Given the description of an element on the screen output the (x, y) to click on. 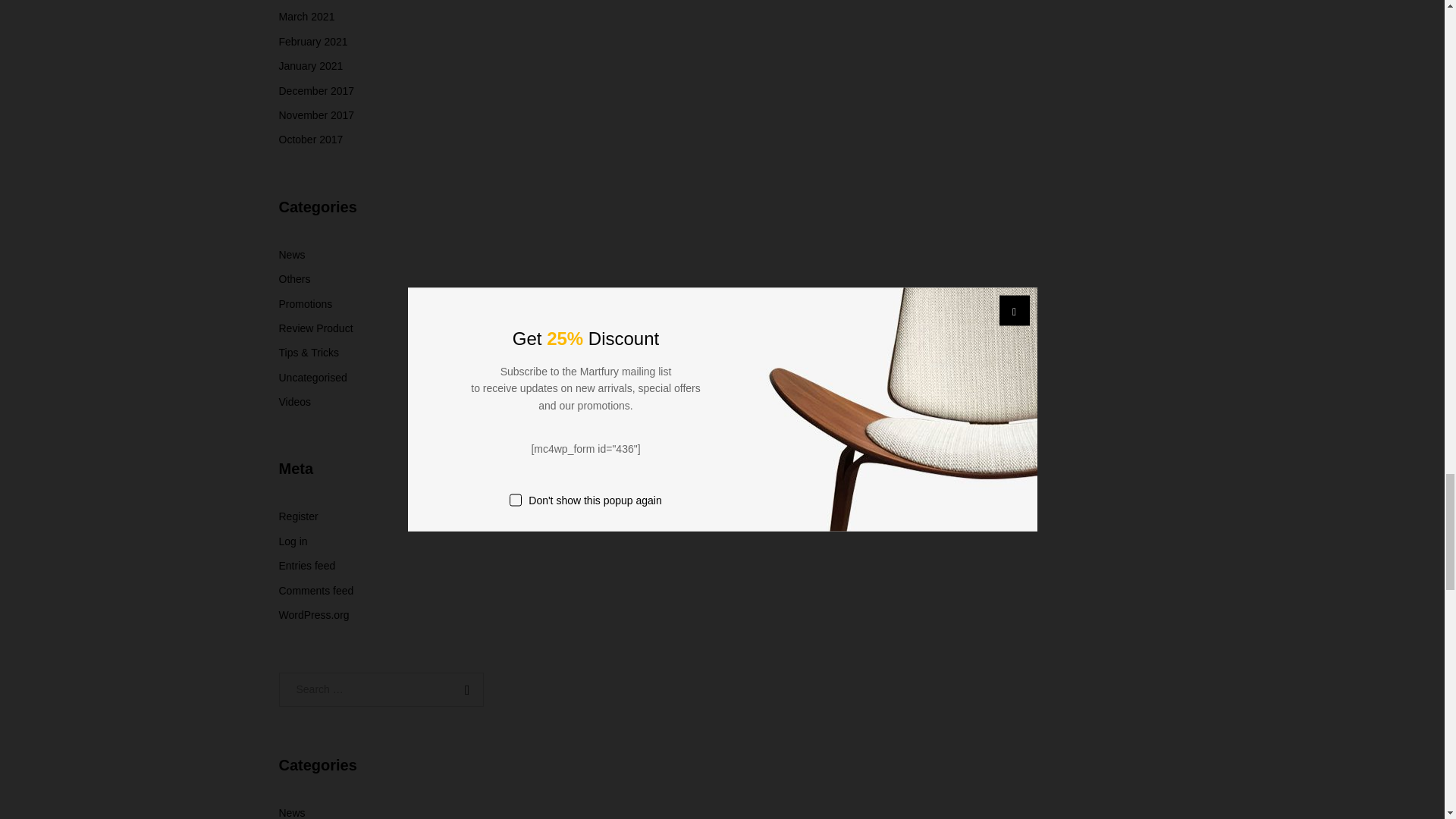
Search (463, 689)
Search (463, 689)
